Given the description of an element on the screen output the (x, y) to click on. 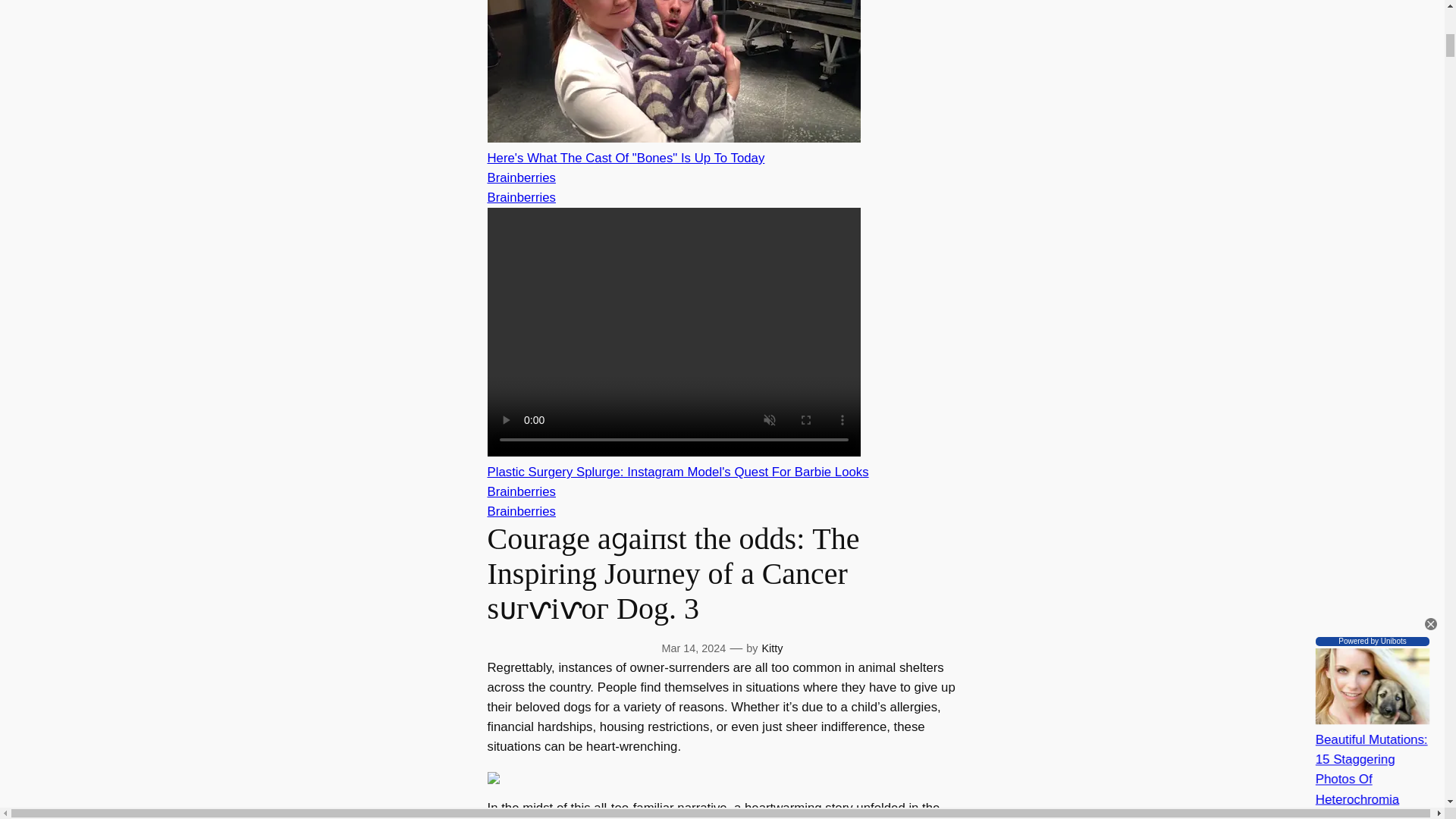
Kitty (772, 648)
Mar 14, 2024 (694, 648)
